Given the description of an element on the screen output the (x, y) to click on. 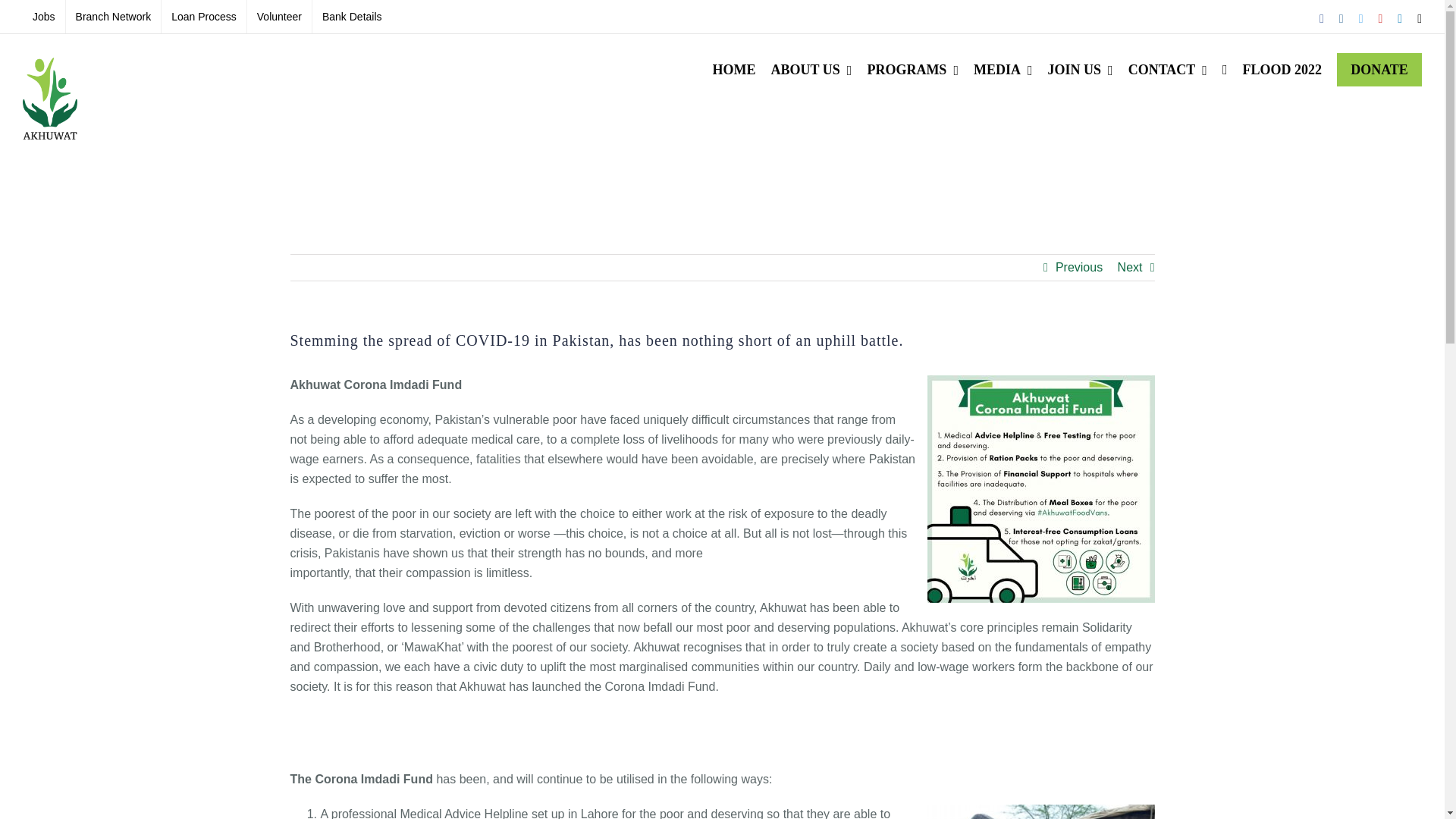
ABOUT US (811, 69)
Bank Details (352, 16)
Loan Process (203, 16)
Jobs (44, 16)
HOME (734, 69)
Volunteer (279, 16)
Branch Network (113, 16)
PROGRAMS (912, 69)
